Given the description of an element on the screen output the (x, y) to click on. 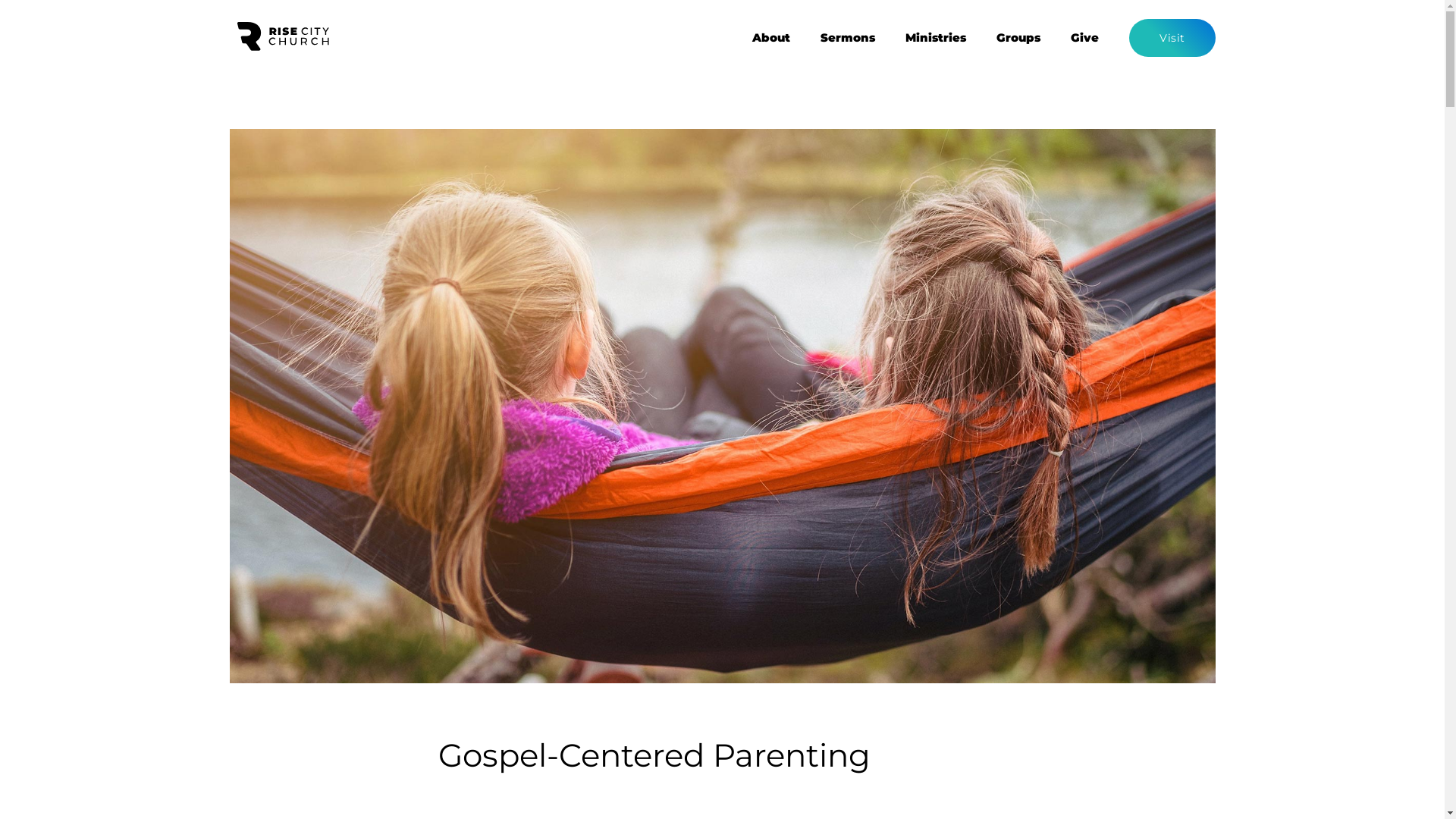
Groups Element type: text (1018, 37)
Gospel-Centered Parenting Element type: hover (721, 405)
Gospel-Centered Parenting Element type: hover (721, 405)
Sermons Element type: text (847, 37)
Give Element type: text (1084, 37)
Ministries Element type: text (935, 37)
About Element type: text (771, 37)
Visit Element type: text (1172, 37)
